Given the description of an element on the screen output the (x, y) to click on. 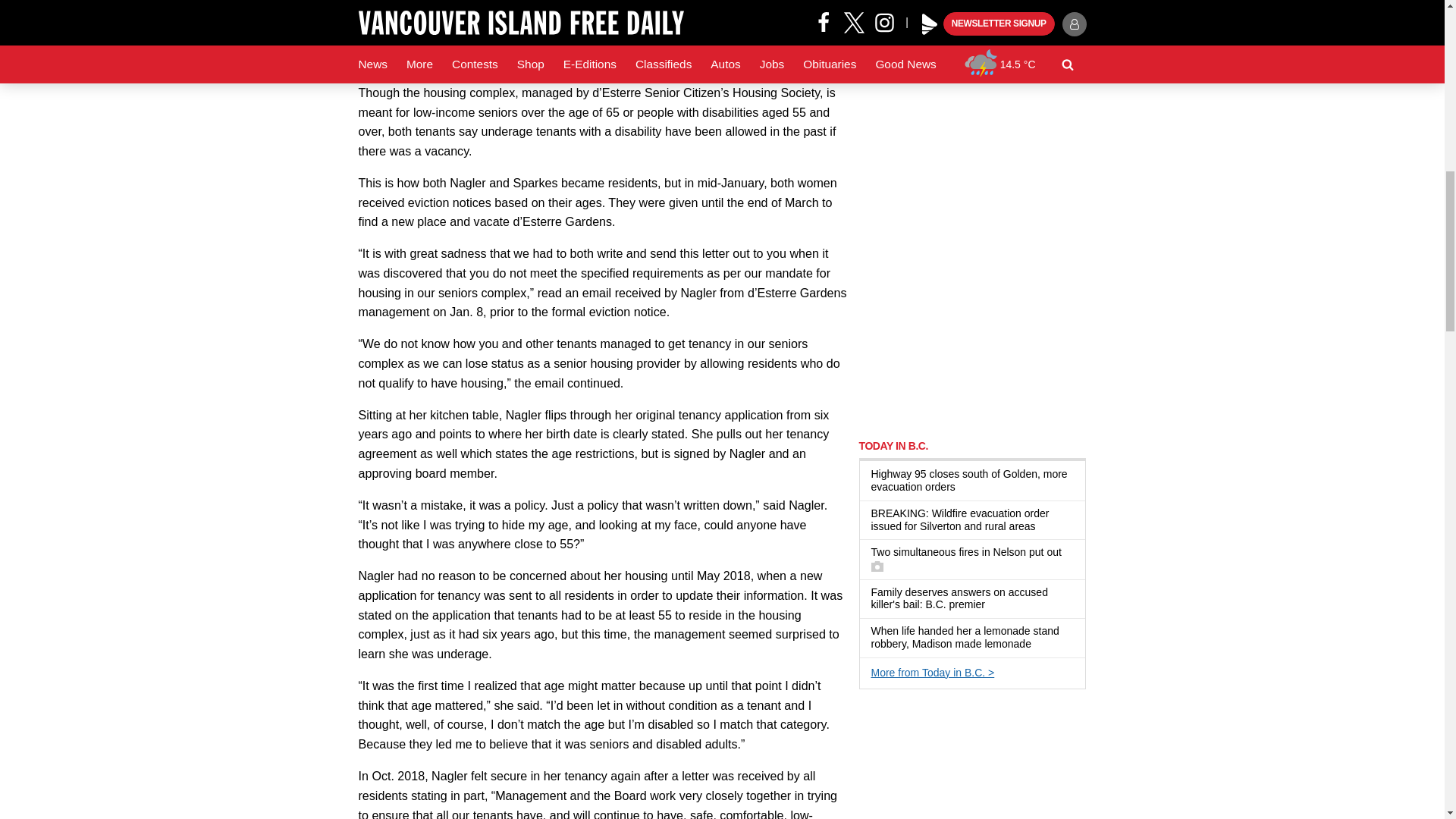
Has a gallery (876, 566)
3rd party ad content (972, 329)
3rd party ad content (972, 124)
3rd party ad content (972, 761)
